Given the description of an element on the screen output the (x, y) to click on. 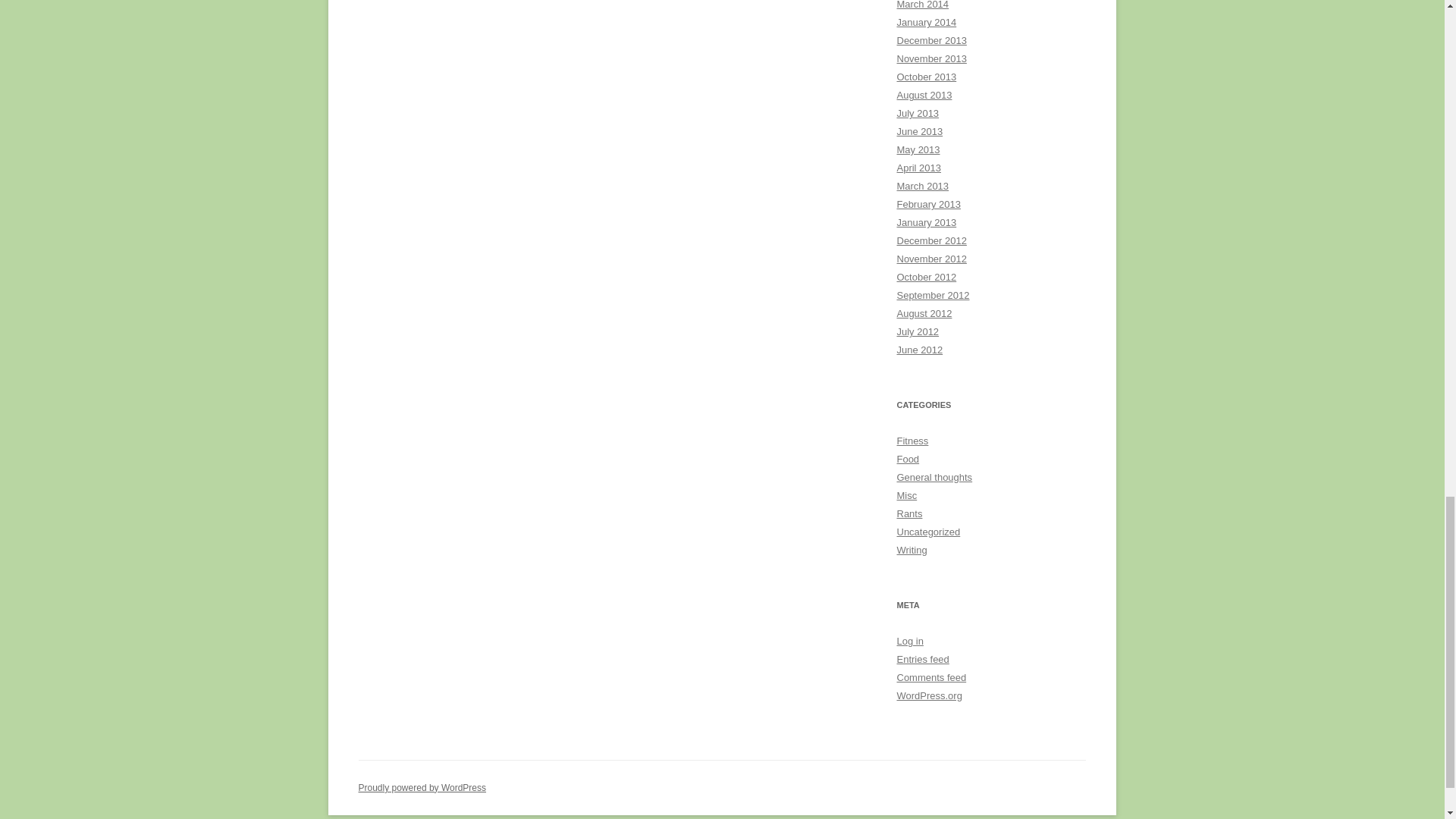
Semantic Personal Publishing Platform (422, 787)
